Given the description of an element on the screen output the (x, y) to click on. 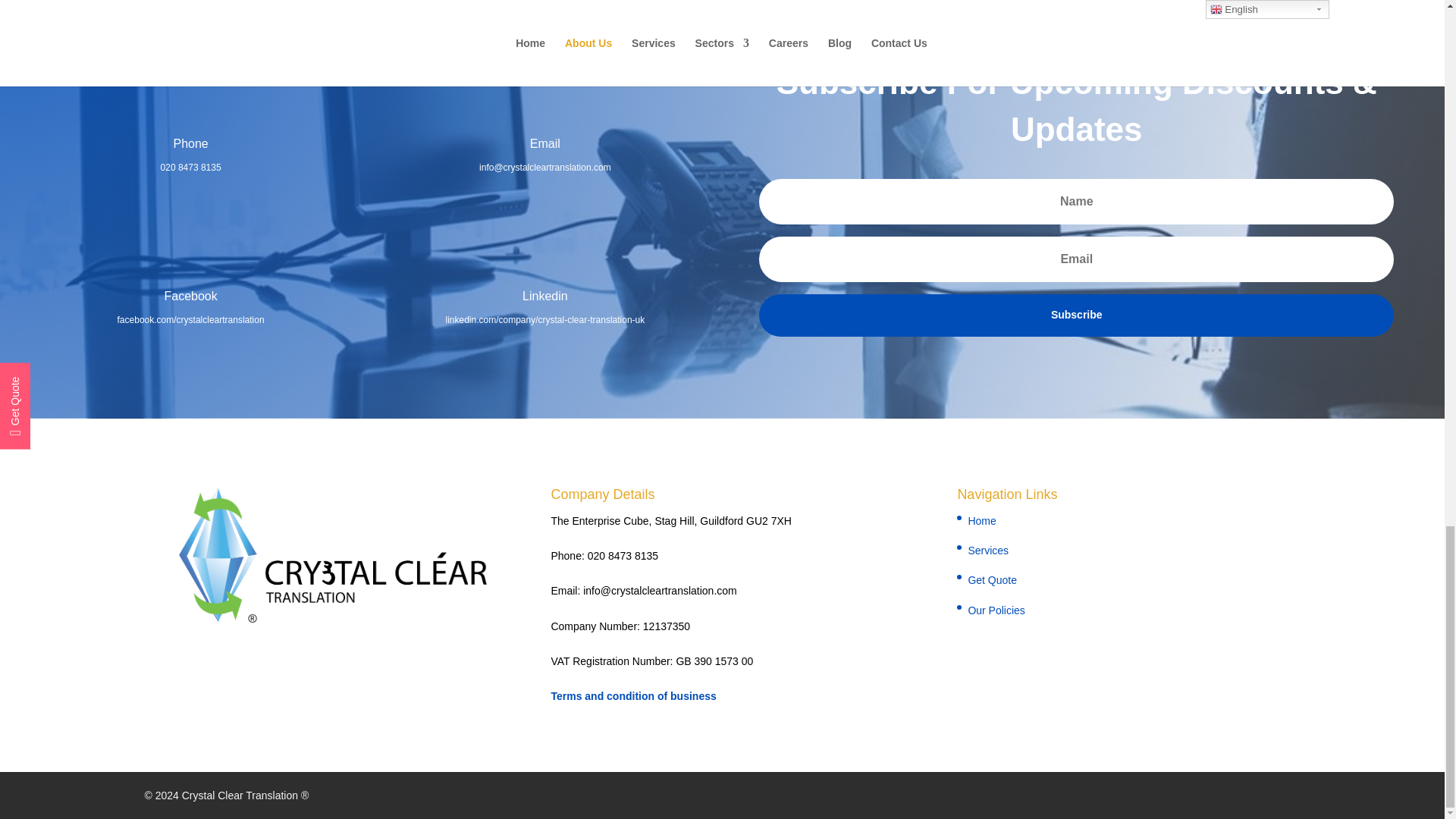
Subscribe (1075, 315)
Our Policies (996, 610)
Services (988, 550)
Home (981, 521)
Terms and condition of business (633, 695)
Facebook (189, 295)
Linkedin (544, 295)
Get Quote (992, 580)
